Given the description of an element on the screen output the (x, y) to click on. 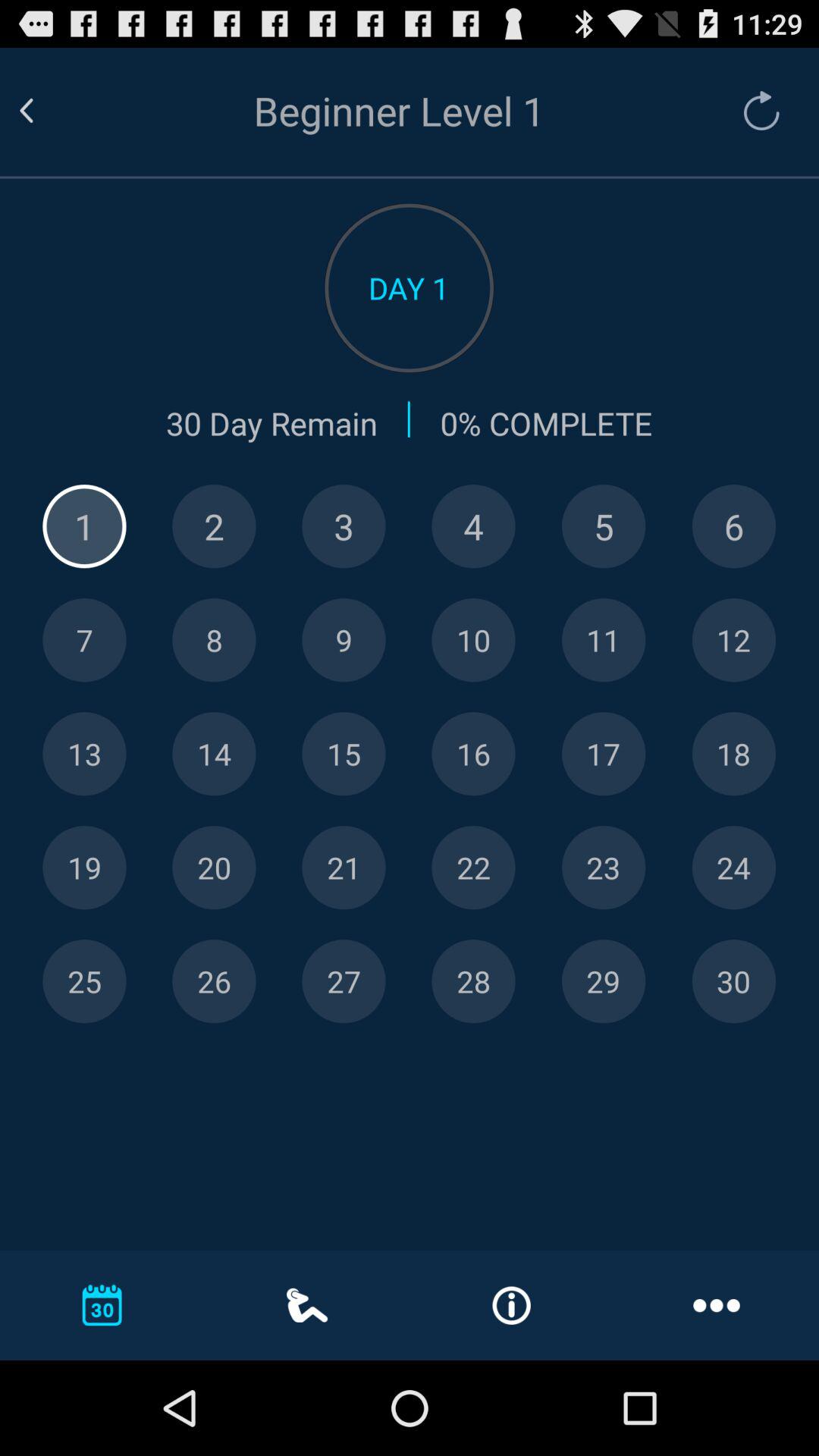
pick 11th day (603, 639)
